Given the description of an element on the screen output the (x, y) to click on. 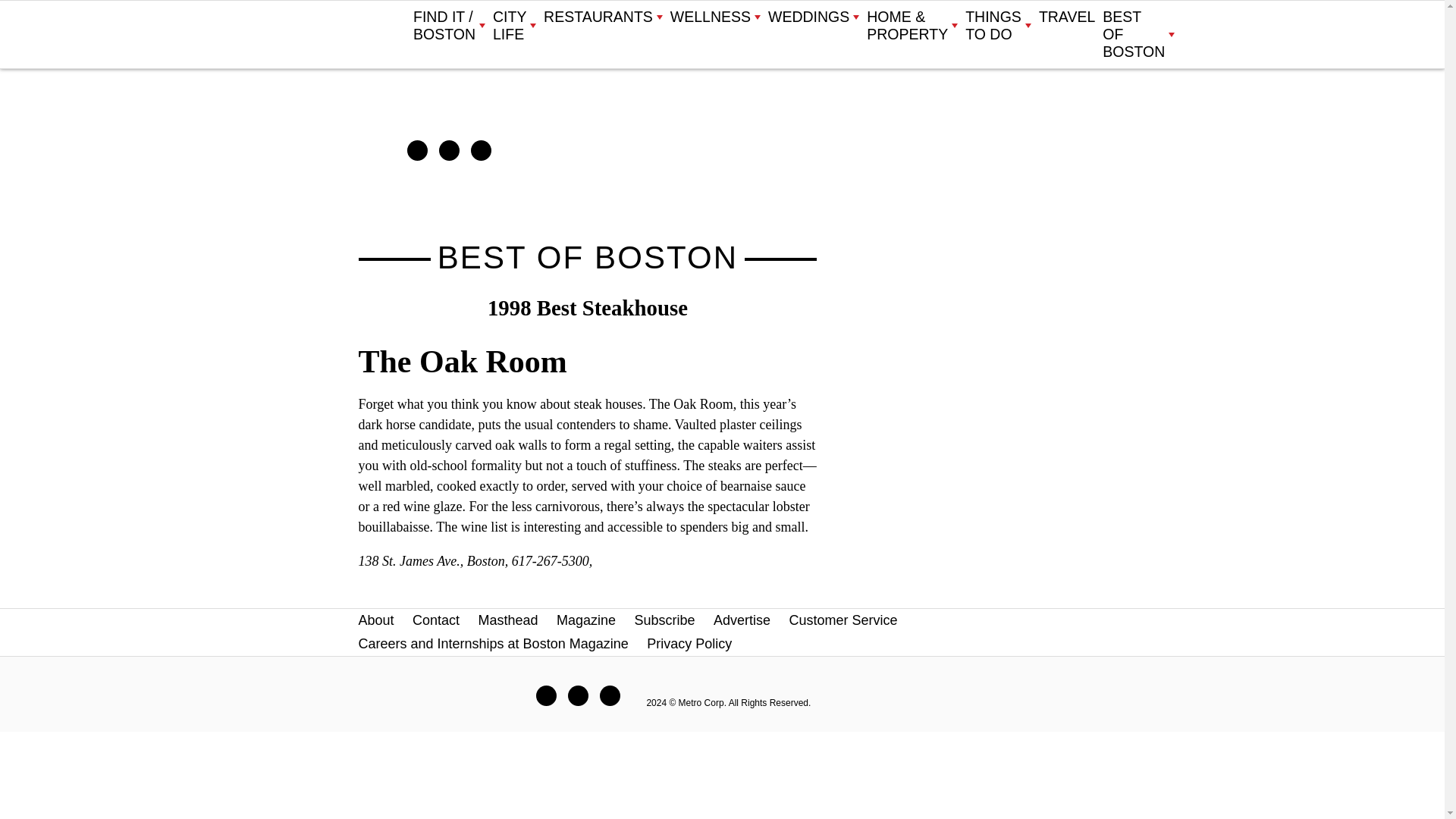
RESTAURANTS (602, 16)
WEDDINGS (813, 16)
WELLNESS (714, 16)
THINGS TO DO (997, 25)
